Given the description of an element on the screen output the (x, y) to click on. 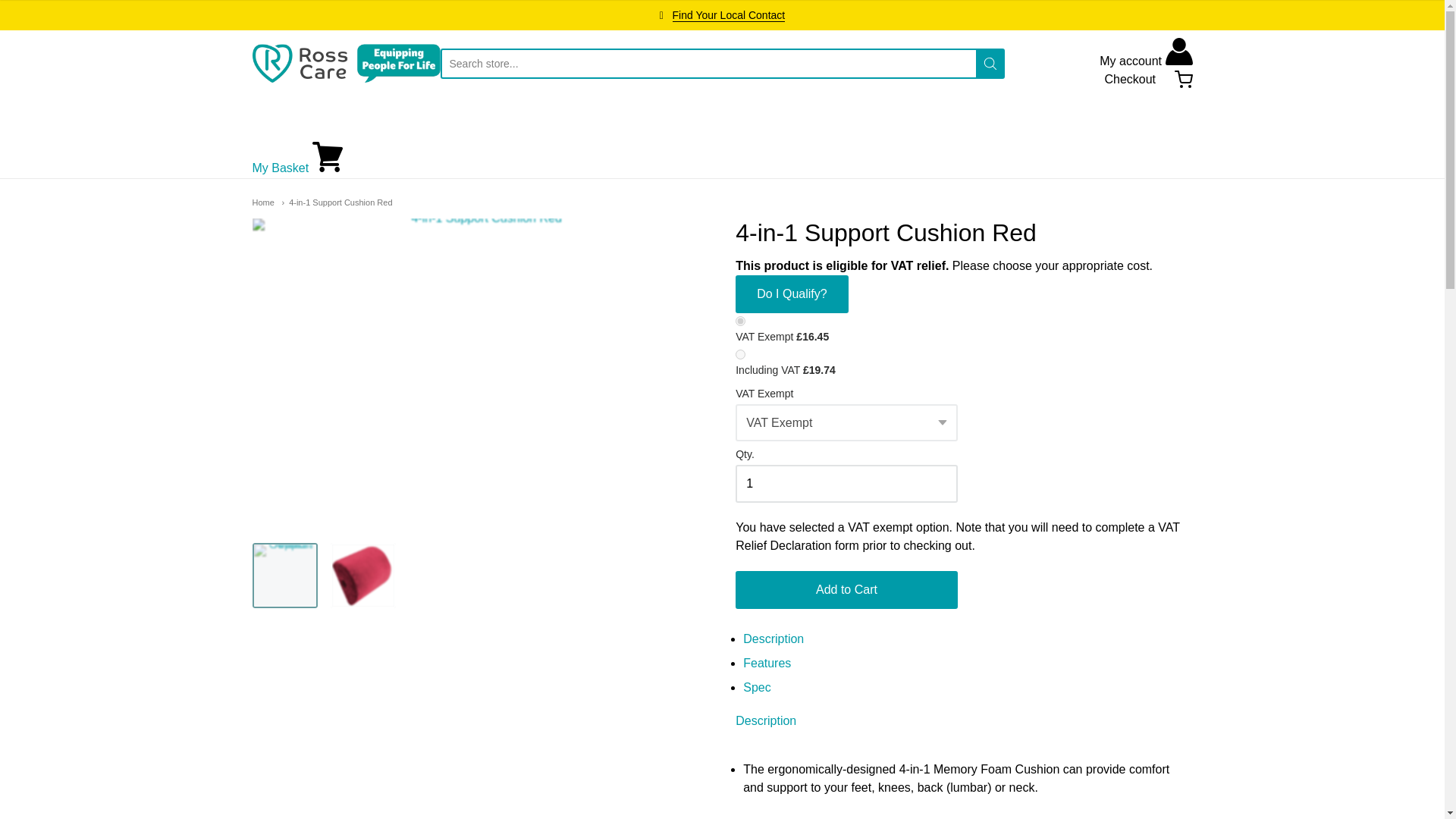
36329758130325 (740, 354)
Service Centre Locations (729, 15)
4-in-1 Support Cushion Red (336, 202)
36329758130325 (740, 320)
4-in-1 Support Cushion Red (284, 575)
Find Your Local Contact (729, 15)
1 (846, 483)
4-in-1 Support Cushion Red (363, 575)
Ross Care (345, 63)
